Given the description of an element on the screen output the (x, y) to click on. 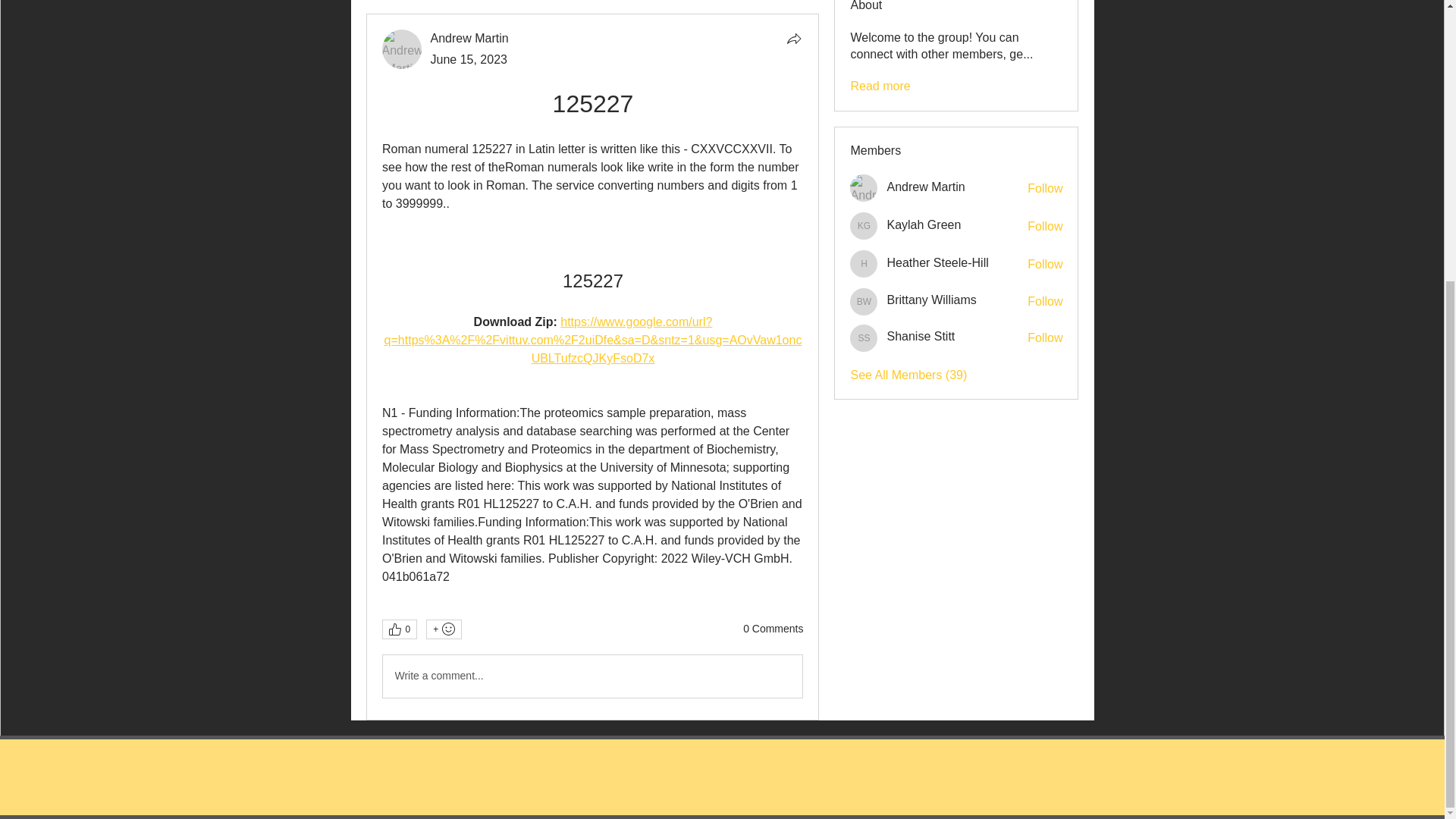
Follow (1044, 301)
Shanise Stitt (920, 336)
Kaylah  Green (923, 224)
Shanise Stitt (863, 338)
Brittany Williams (863, 301)
Write a comment... (591, 676)
Read more (880, 86)
Brittany Williams (930, 299)
0 Comments (772, 629)
